Given the description of an element on the screen output the (x, y) to click on. 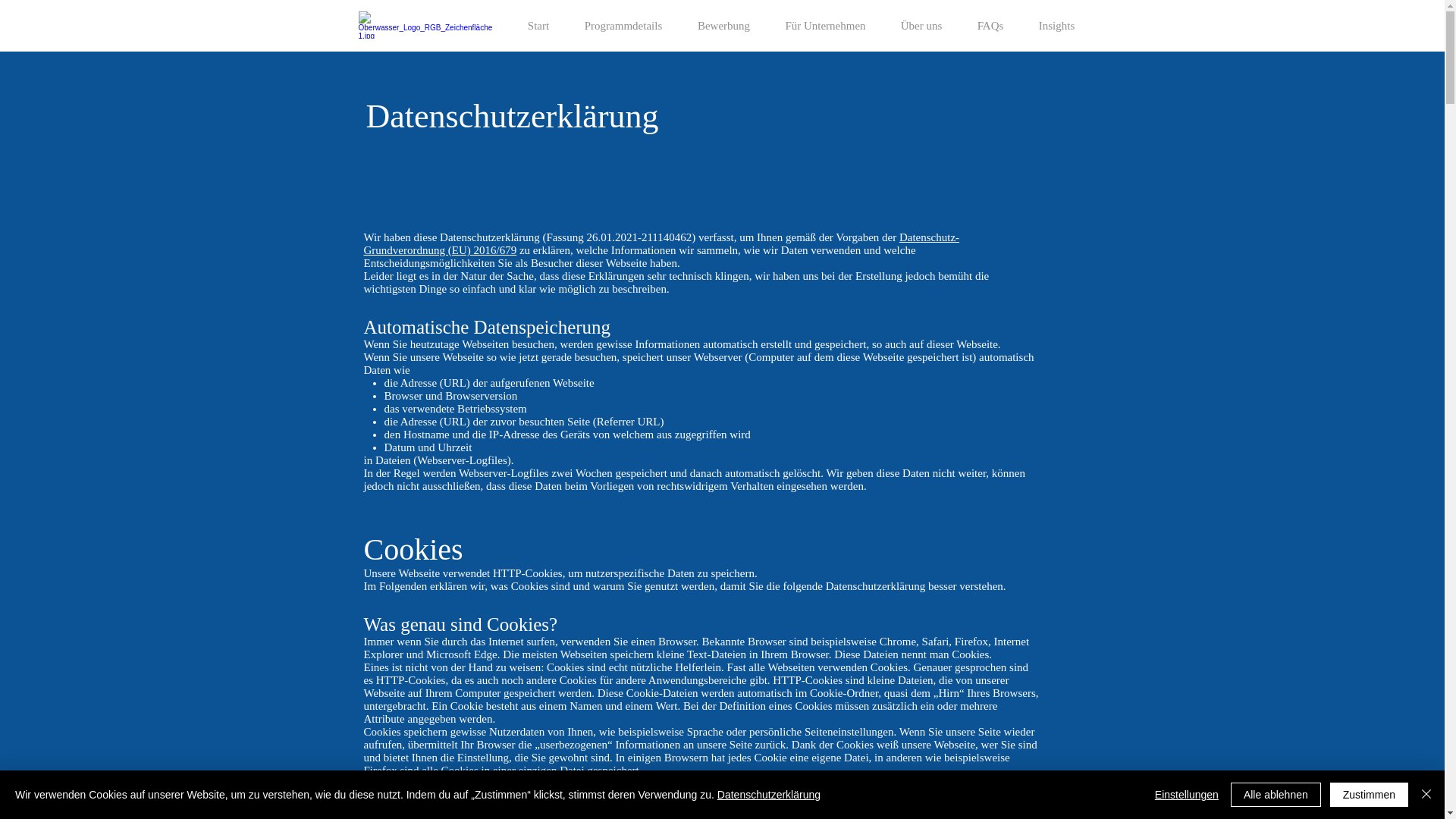
Programmdetails Element type: text (623, 26)
Bewerbung Element type: text (723, 26)
Insights Element type: text (1056, 26)
FAQs Element type: text (990, 26)
Alle ablehnen Element type: text (1275, 794)
Zustimmen Element type: text (1369, 794)
Start Element type: text (537, 26)
Datenschutz-Grundverordnung (EU) 2016/679 Element type: text (662, 243)
